Given the description of an element on the screen output the (x, y) to click on. 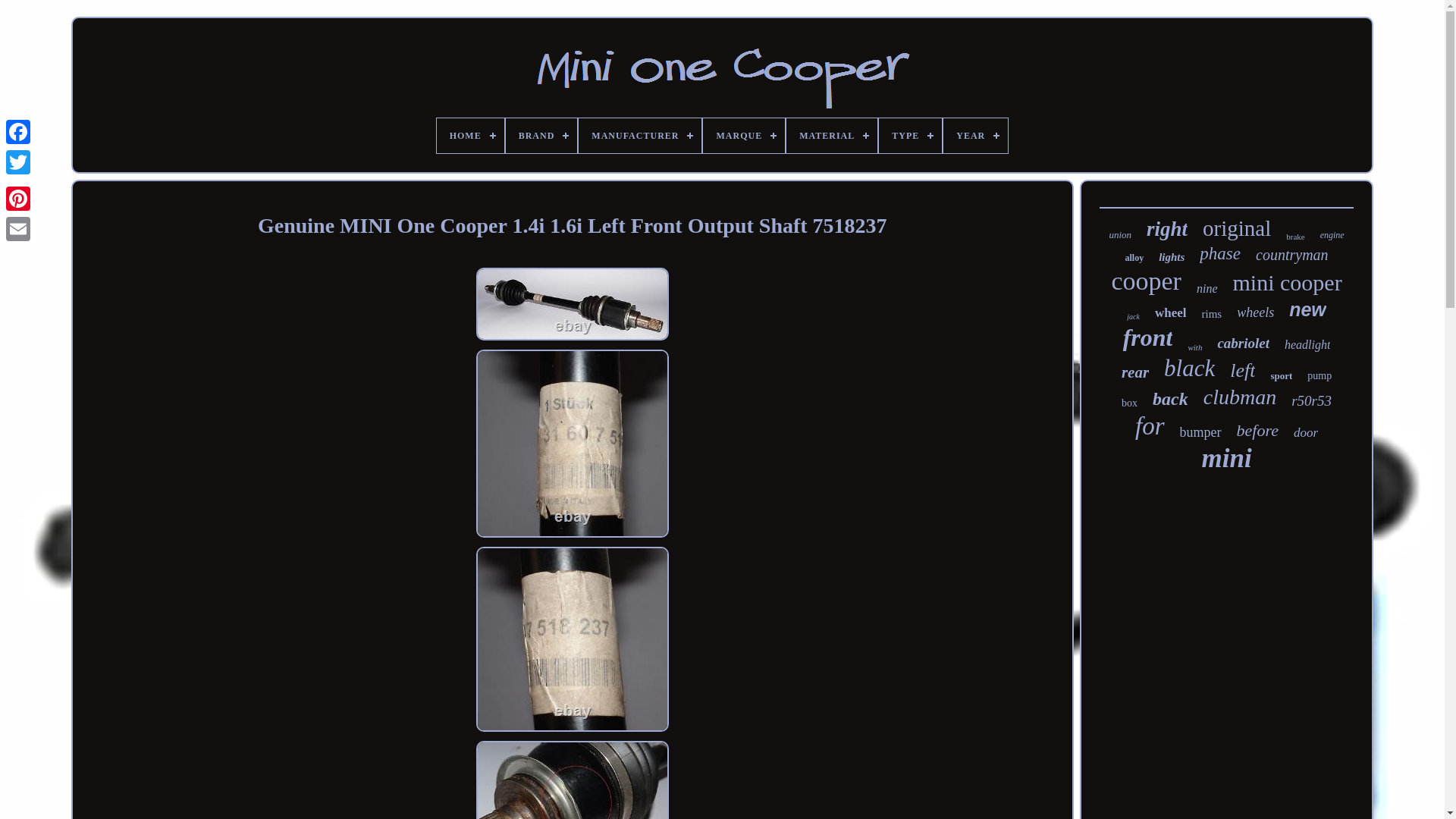
HOME (469, 135)
BRAND (541, 135)
MANUFACTURER (639, 135)
